Given the description of an element on the screen output the (x, y) to click on. 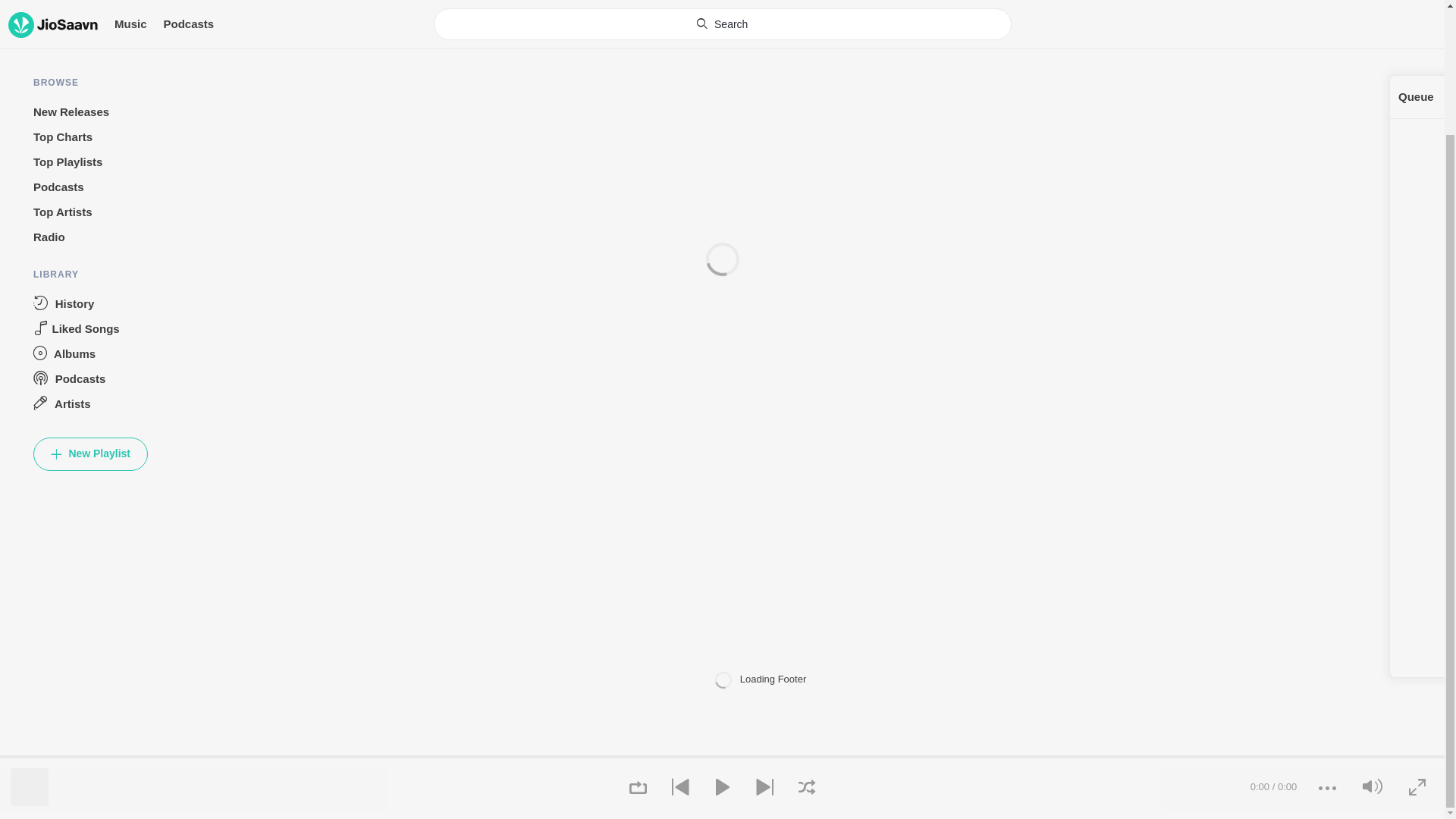
Podcasts (90, 37)
Top Artists (90, 62)
Radio (90, 87)
Top Playlists (90, 12)
